Given the description of an element on the screen output the (x, y) to click on. 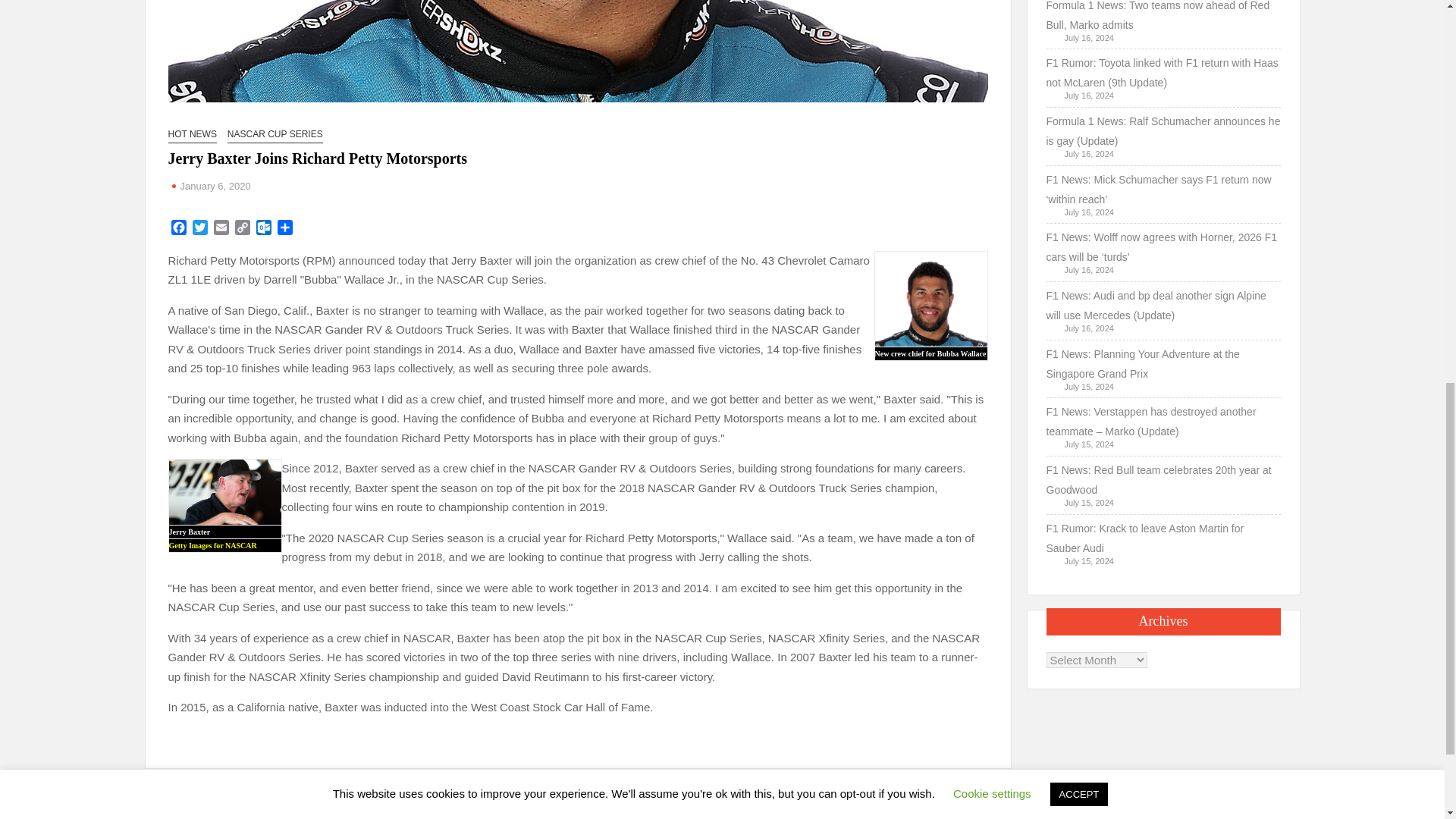
Outlook.com (264, 229)
Copy Link (242, 229)
Facebook (178, 229)
Twitter (200, 229)
Email (221, 229)
